Given the description of an element on the screen output the (x, y) to click on. 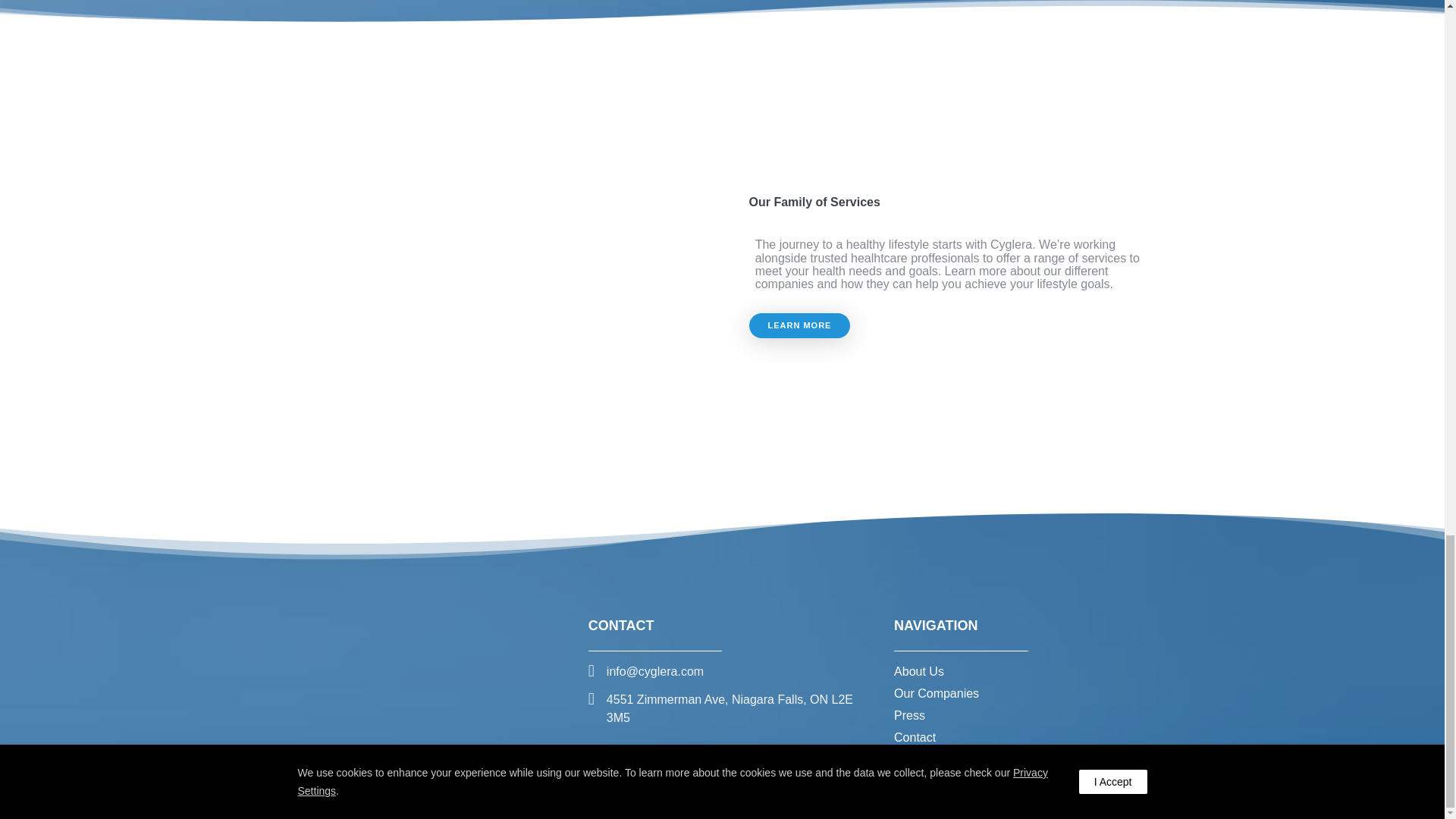
Press (908, 715)
LEARN MORE (799, 325)
About Us (918, 671)
Press (908, 715)
Contact (914, 737)
Our Companies (935, 693)
Our Companies (935, 693)
Contact (914, 737)
Privacy Policy (837, 784)
About Us (918, 671)
